Given the description of an element on the screen output the (x, y) to click on. 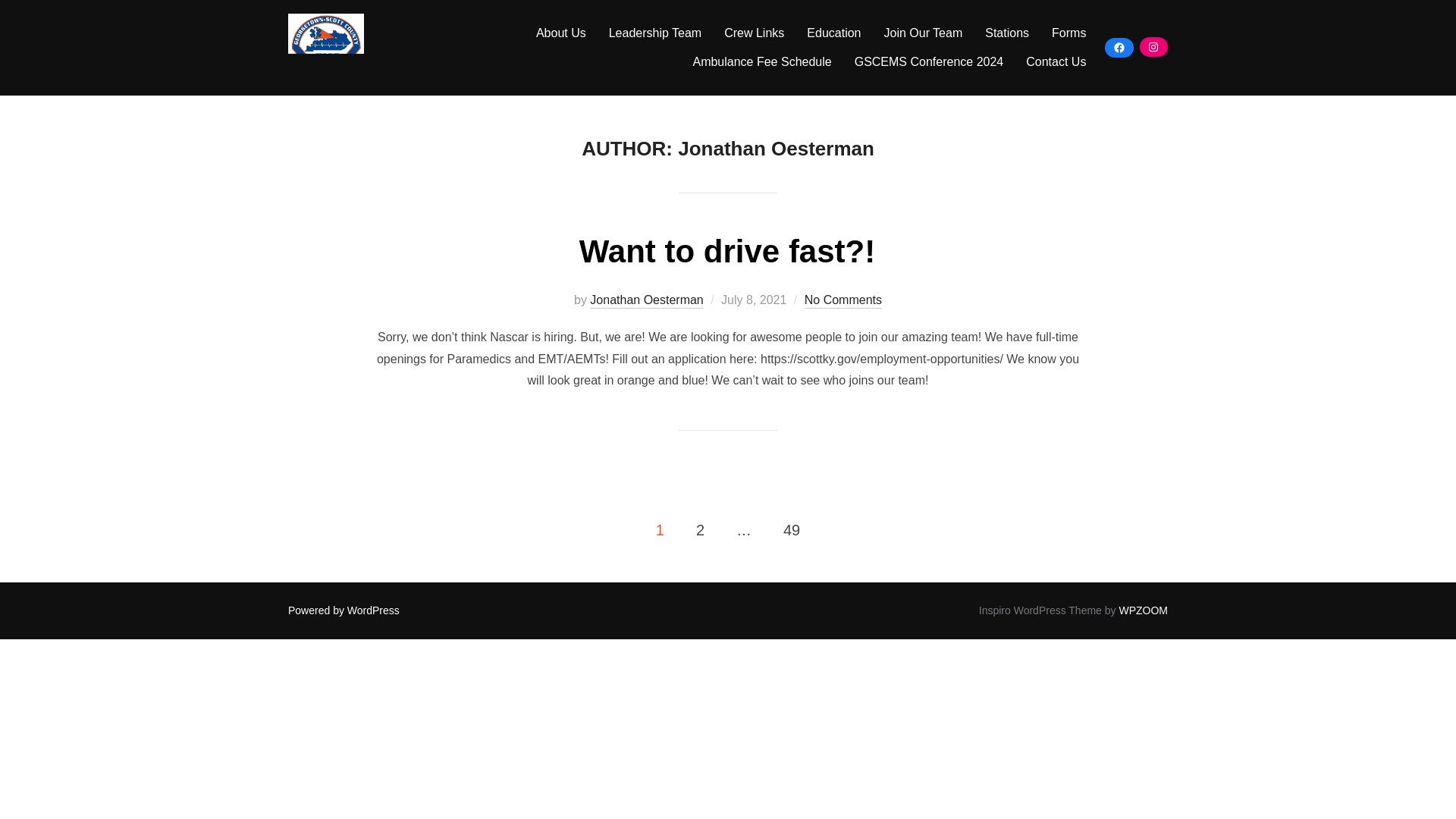
Want to drive fast?! (727, 251)
Contact Us (1056, 61)
Instagram (1153, 46)
Powered by WordPress (343, 610)
Education (833, 32)
49 (790, 529)
Leadership Team (654, 32)
Ambulance Fee Schedule (762, 61)
Facebook (1118, 47)
2 (700, 529)
